Given the description of an element on the screen output the (x, y) to click on. 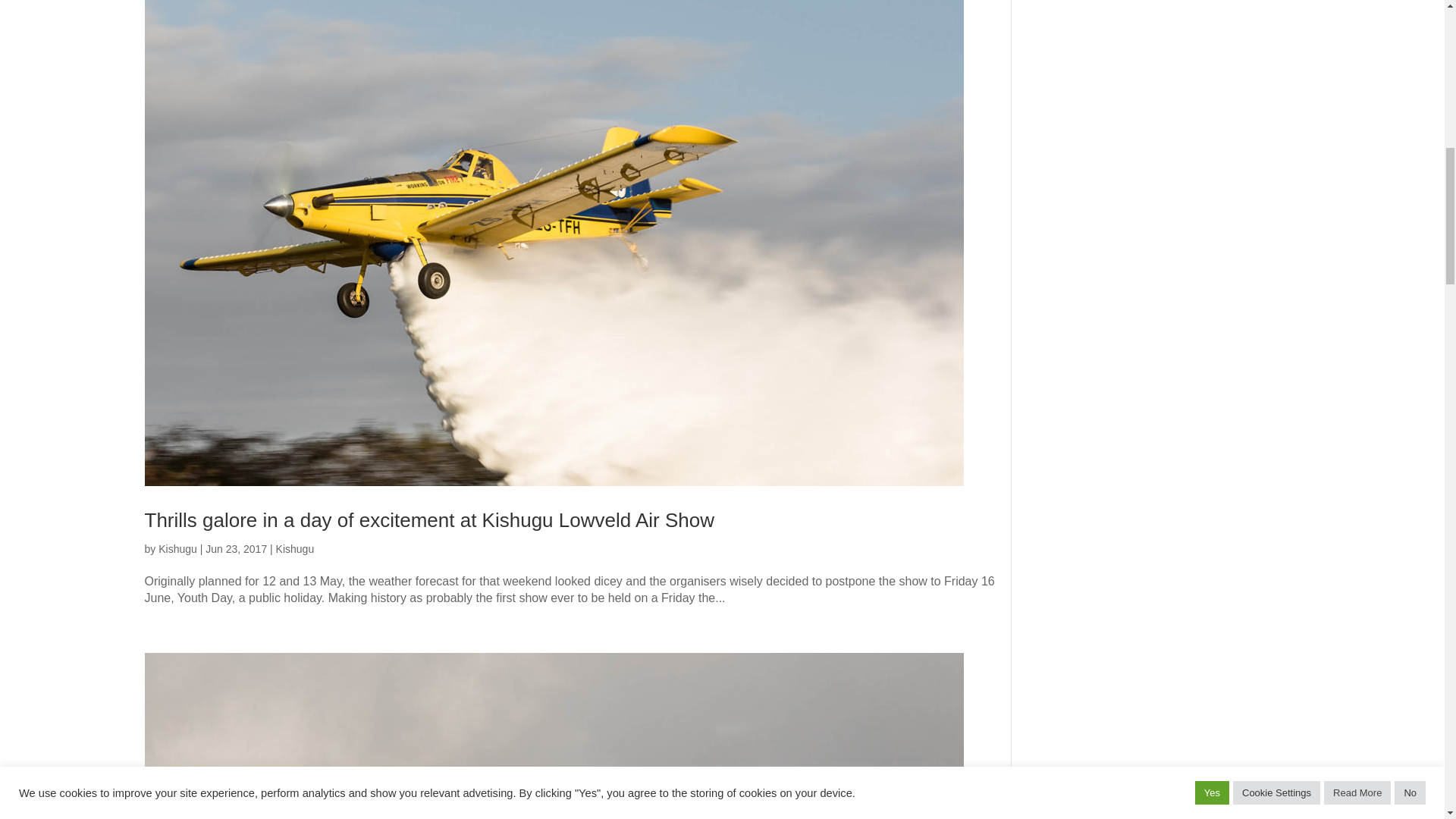
Posts by Kishugu (177, 548)
